Given the description of an element on the screen output the (x, y) to click on. 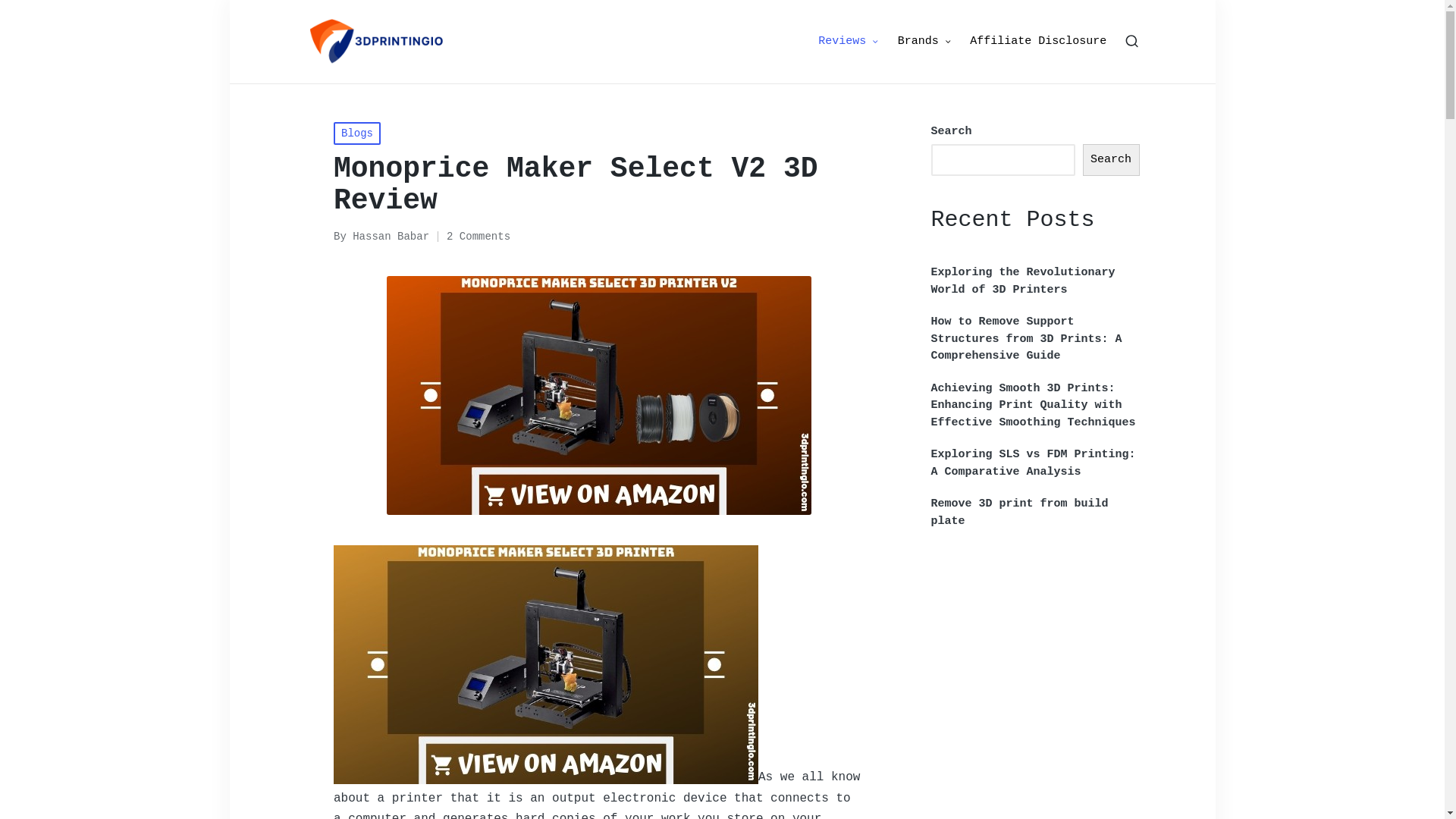
Exploring SLS vs FDM Printing: A Comparative Analysis Element type: text (1035, 463)
Search Element type: text (1110, 159)
Monoprice Maker Select V2 3D Element type: hover (545, 664)
2 Comments Element type: text (478, 236)
Blogs Element type: text (356, 133)
Brands Element type: text (924, 41)
Exploring the Revolutionary World of 3D Printers Element type: text (1035, 281)
Hassan Babar Element type: text (390, 236)
Affiliate Disclosure Element type: text (1037, 41)
Remove 3D print from build plate Element type: text (1035, 512)
Reviews Element type: text (848, 41)
